Given the description of an element on the screen output the (x, y) to click on. 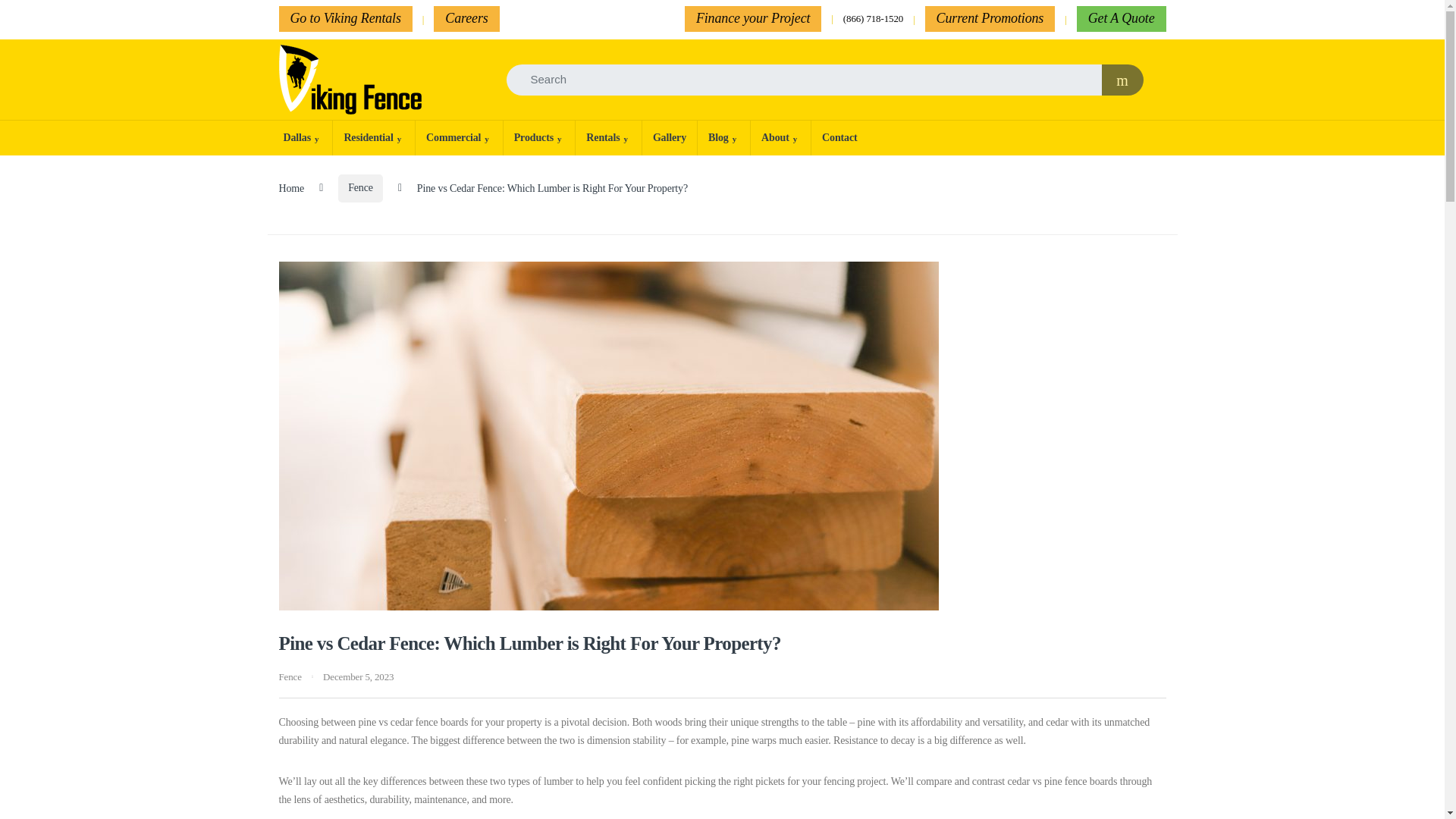
Get A Quote (1121, 18)
Finance your Project (752, 18)
Go to Viking Rentals (345, 18)
Current Promotions (989, 18)
Go to Viking Rentals (345, 18)
Careers (466, 18)
Get A Quote (1121, 18)
Current Promotions (989, 18)
Careers (466, 18)
Finance your Project (752, 18)
